Given the description of an element on the screen output the (x, y) to click on. 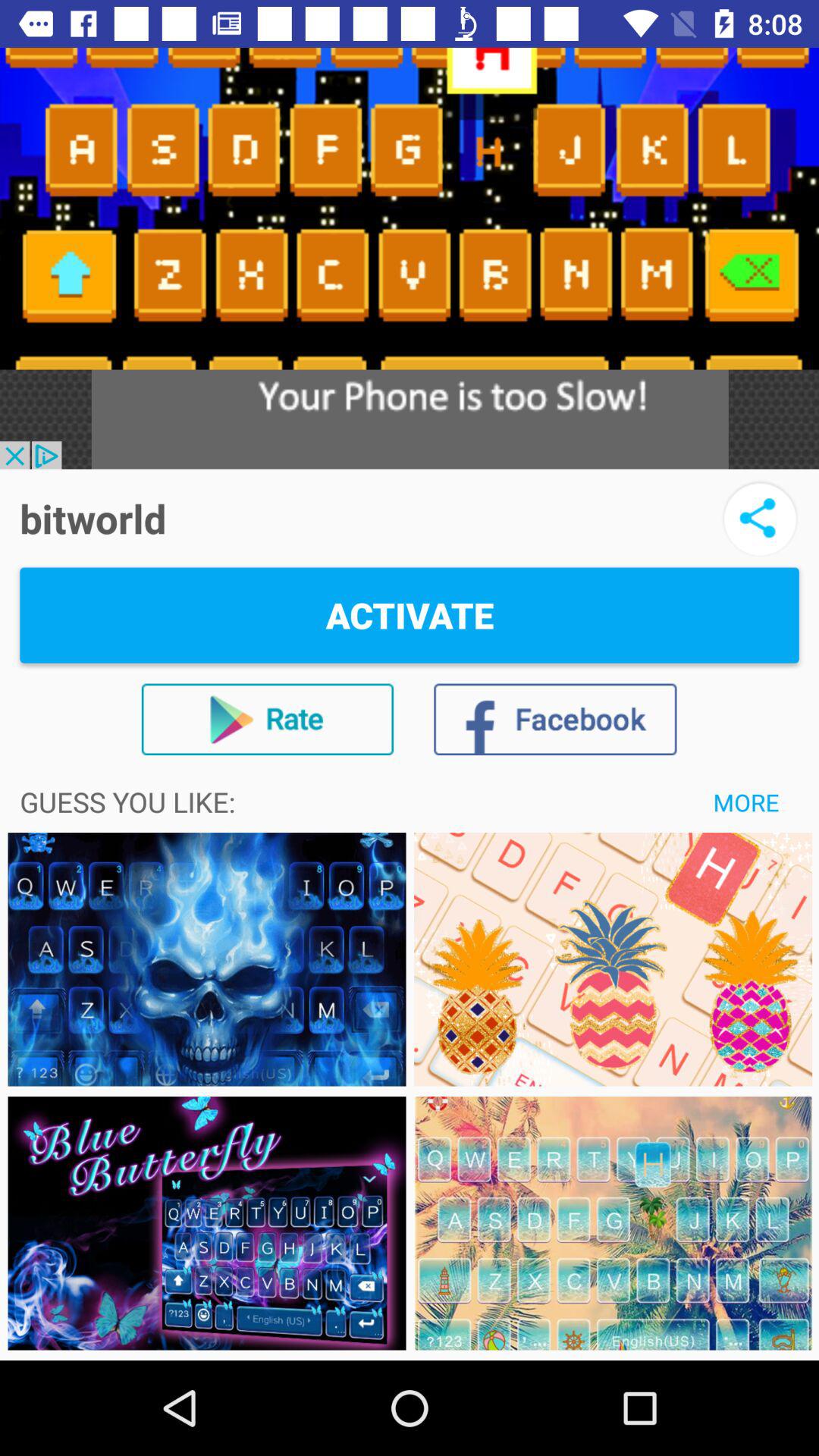
click the activate (409, 615)
